Given the description of an element on the screen output the (x, y) to click on. 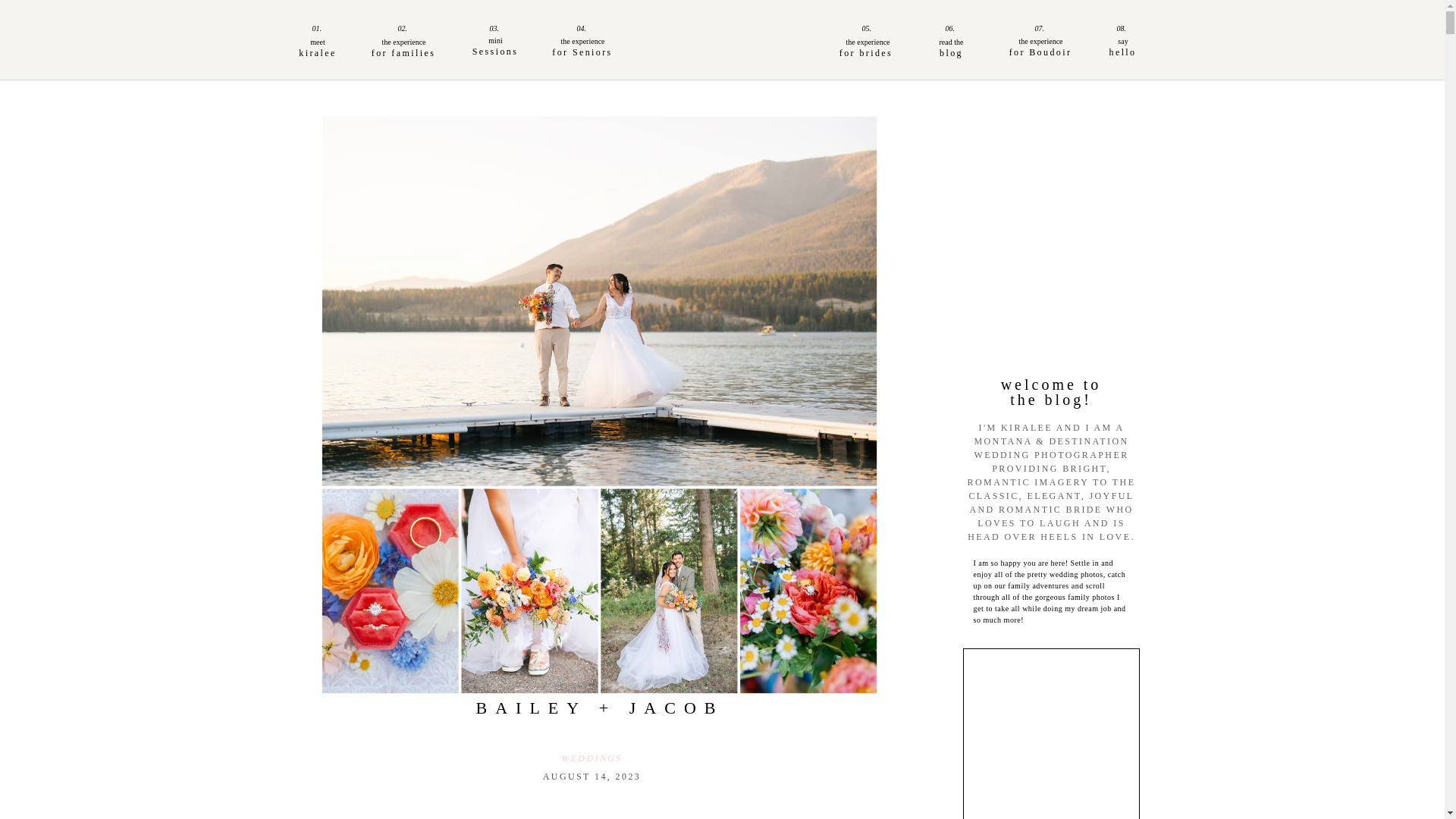
the experience (403, 43)
welcome to the blog! (1051, 392)
for Boudoir (1040, 51)
for Seniors (582, 51)
the experience (1041, 43)
say (1122, 43)
meet (317, 43)
the experience (582, 43)
for brides (866, 52)
Sessions (495, 51)
